Given the description of an element on the screen output the (x, y) to click on. 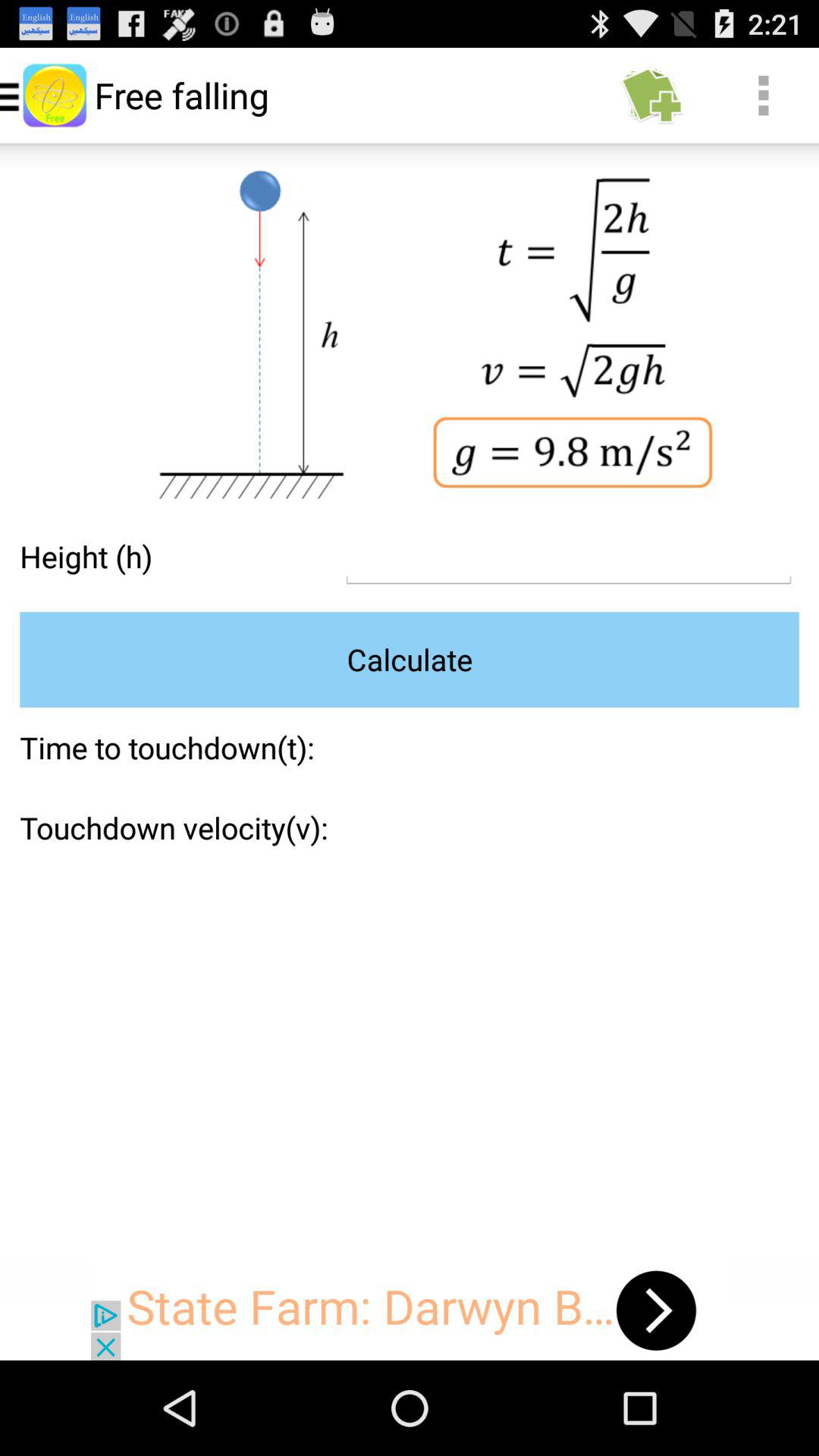
advertisement (409, 1310)
